Given the description of an element on the screen output the (x, y) to click on. 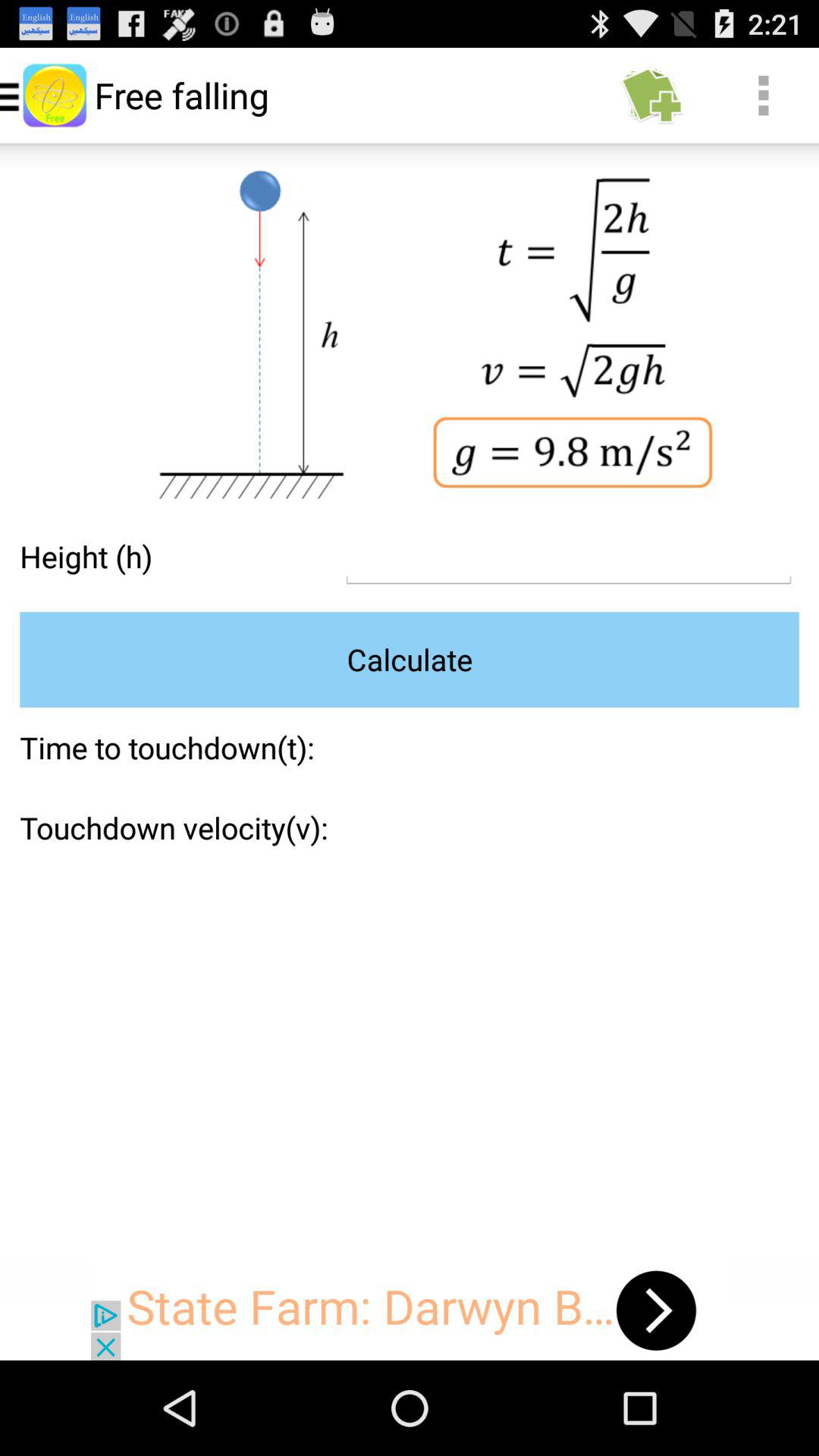
advertisement (409, 1310)
